Given the description of an element on the screen output the (x, y) to click on. 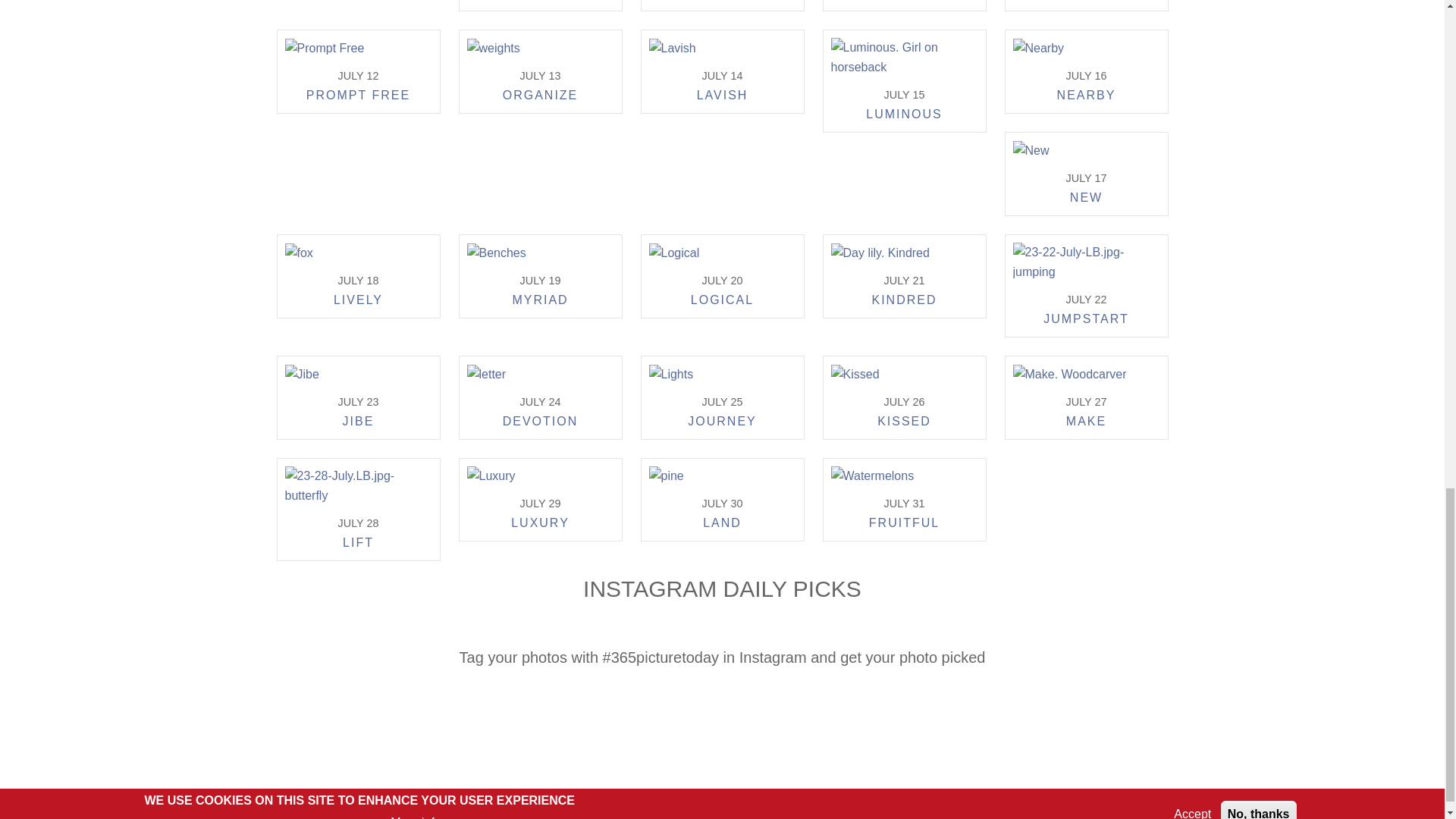
OPEN (1085, 2)
LUMINOUS (904, 116)
PROMPT FREE (357, 97)
BOISTEROUS (722, 2)
EUPHORIC (904, 2)
LAVISH (722, 97)
ORGANIZE (540, 97)
NATURE (540, 2)
NEARBY (1086, 97)
